Given the description of an element on the screen output the (x, y) to click on. 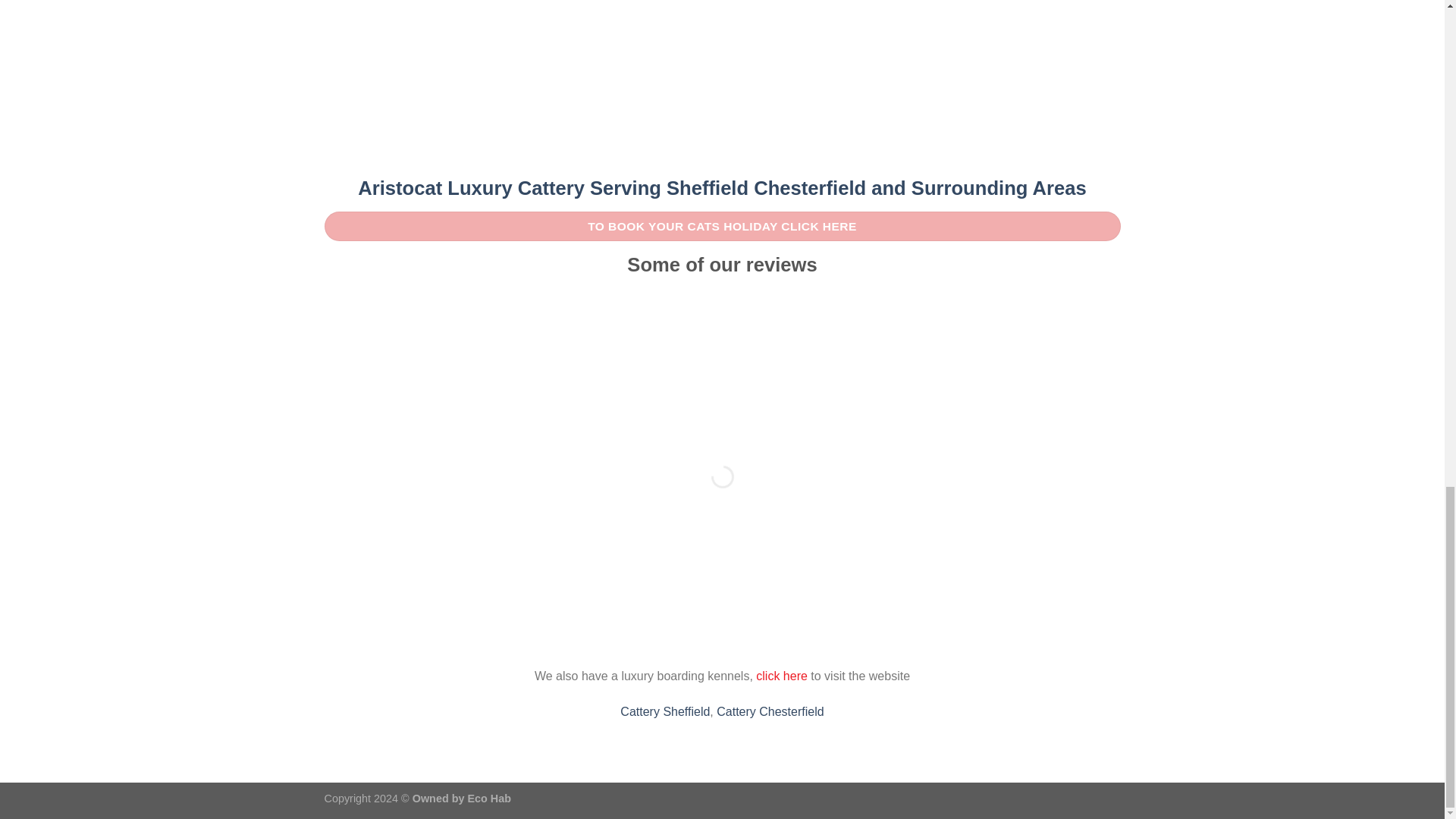
Cattery Chesterfield (770, 711)
Cattery Sheffield (665, 711)
TO BOOK YOUR CATS HOLIDAY CLICK HERE (722, 225)
click here (780, 675)
